Given the description of an element on the screen output the (x, y) to click on. 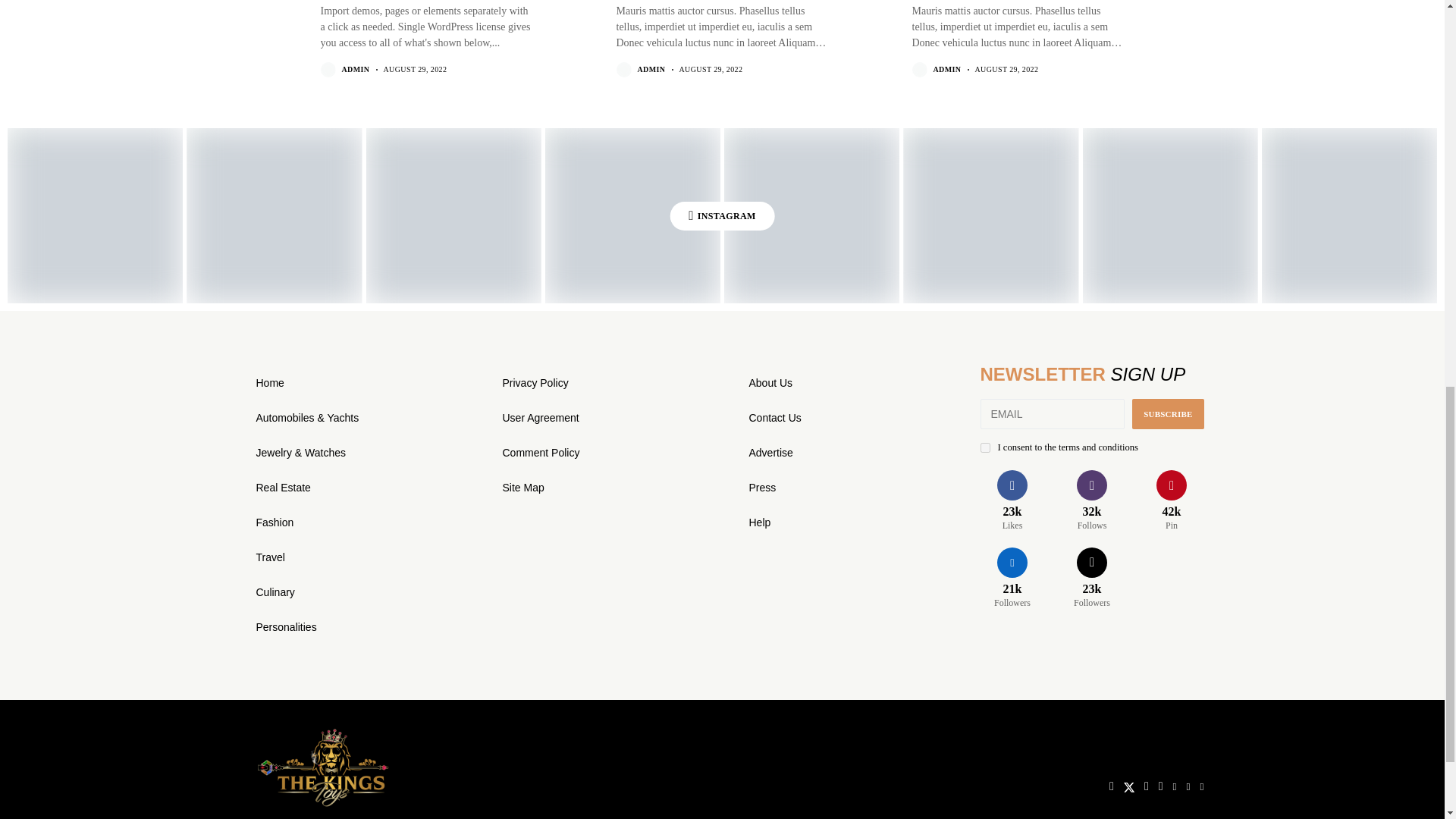
Posts by admin (651, 69)
Posts by admin (946, 69)
Posts by admin (354, 69)
1 (984, 447)
Subscribe (1168, 413)
